Given the description of an element on the screen output the (x, y) to click on. 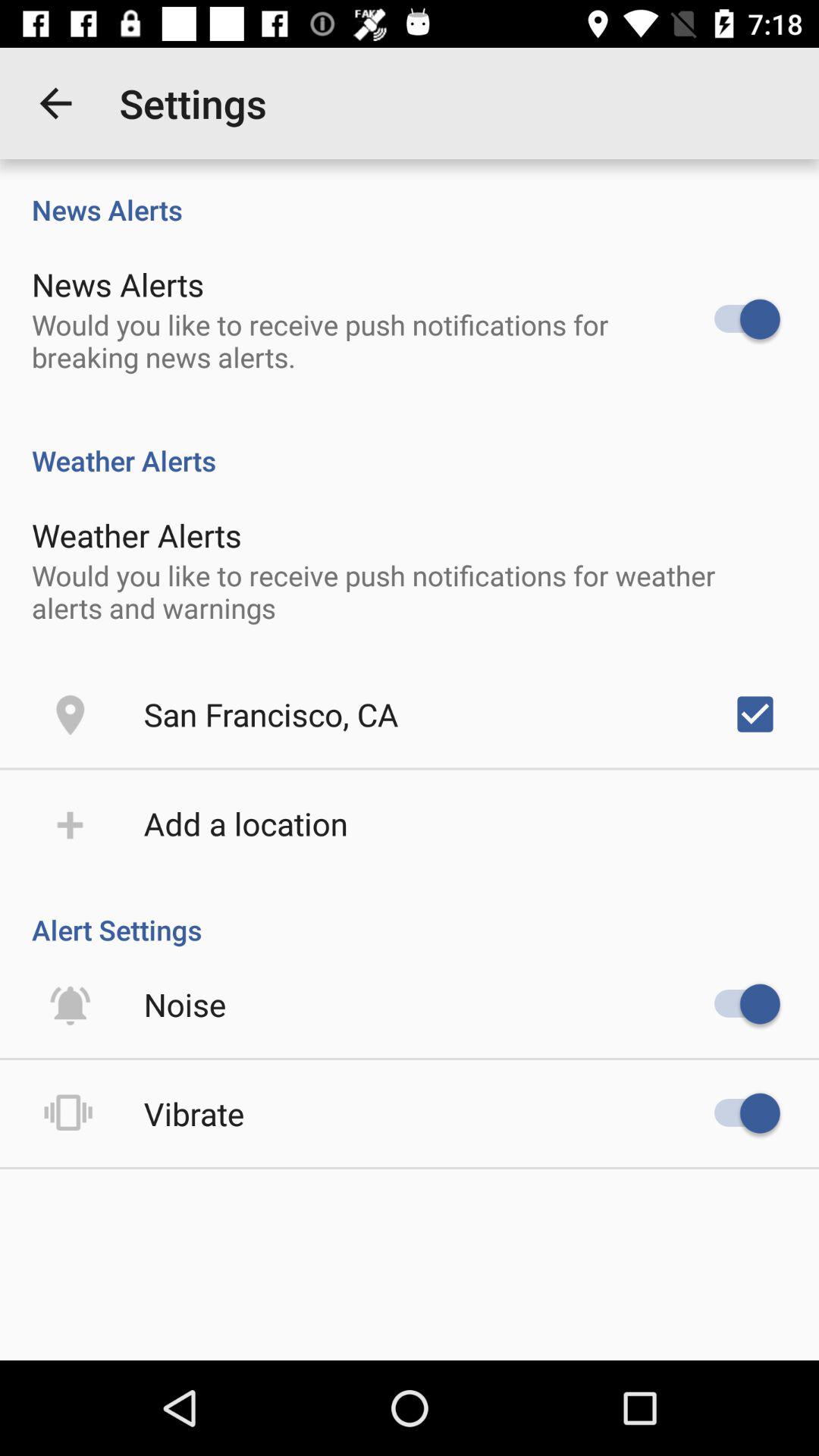
scroll until the add a location icon (245, 823)
